Given the description of an element on the screen output the (x, y) to click on. 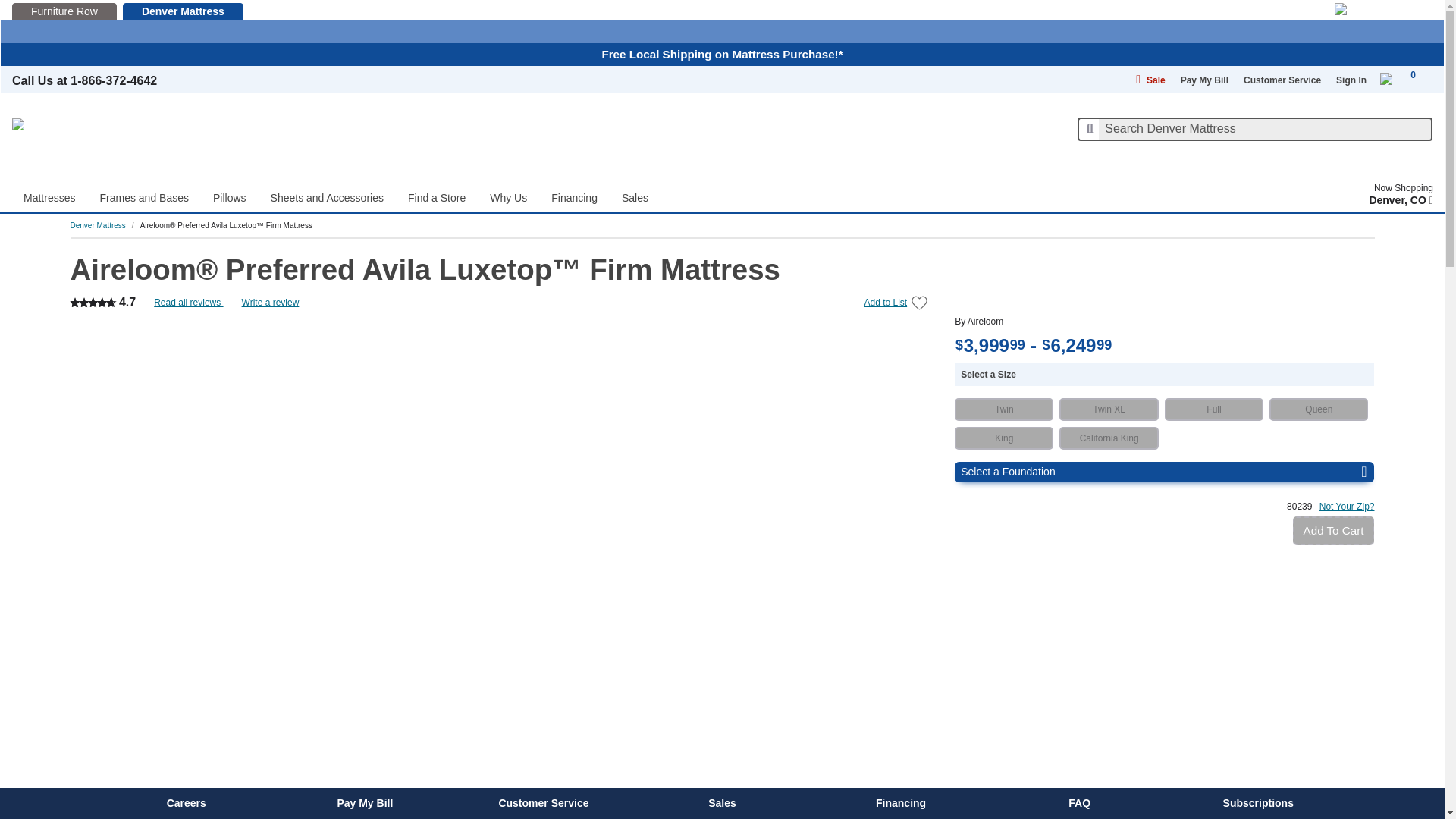
Mattresses (49, 188)
Queen (1318, 409)
Secondary Navigation (962, 79)
Twin (1003, 409)
Full (1213, 409)
California King (1108, 437)
King (1003, 437)
Pay My Bill (1204, 80)
Twin XL (1108, 409)
